Given the description of an element on the screen output the (x, y) to click on. 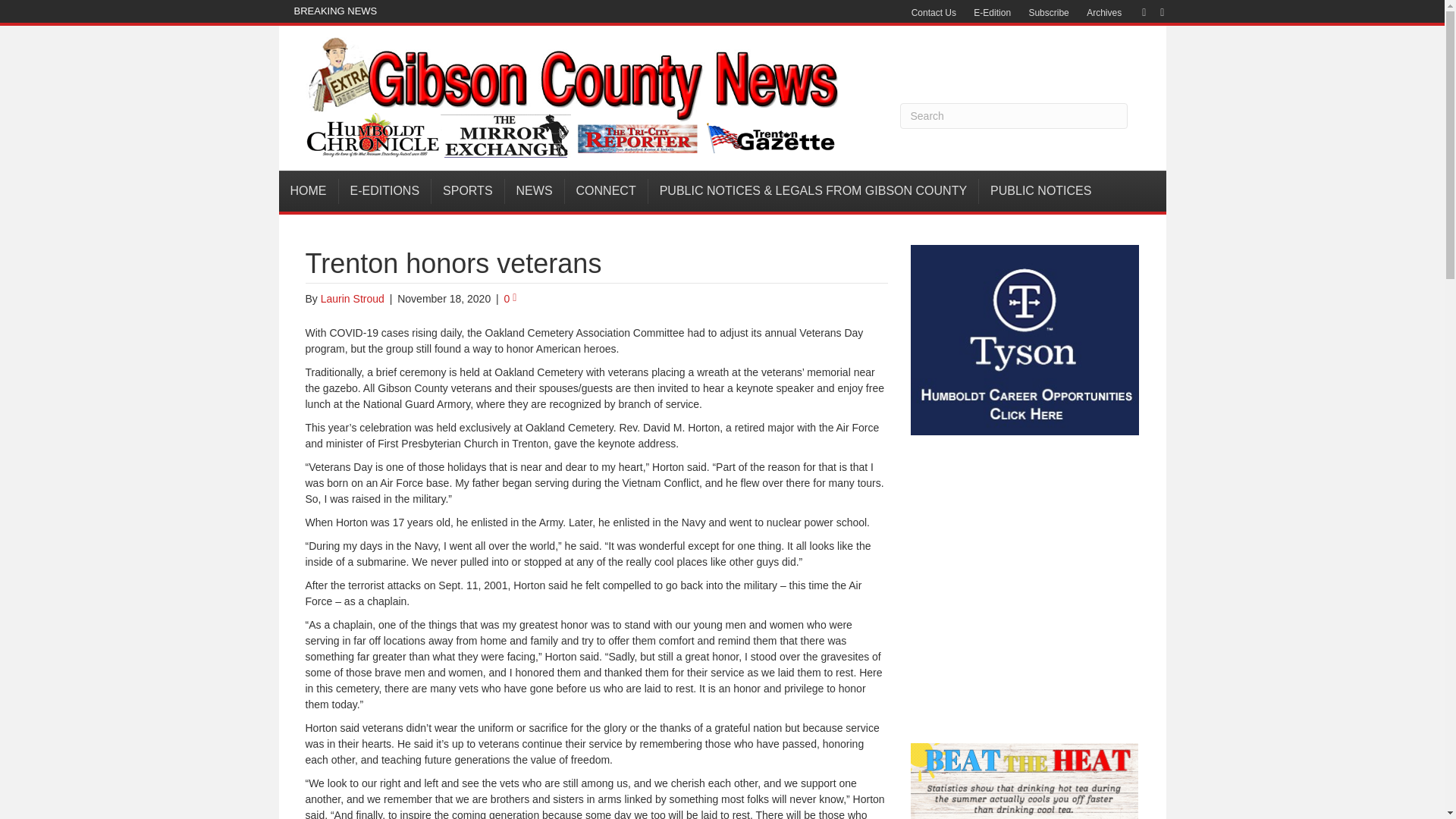
Email (1154, 11)
Contact Us (933, 13)
Type and press Enter to search. (1012, 115)
Subscribe (1047, 13)
E-Edition (991, 13)
Facebook (1135, 11)
Archives (1103, 13)
